Given the description of an element on the screen output the (x, y) to click on. 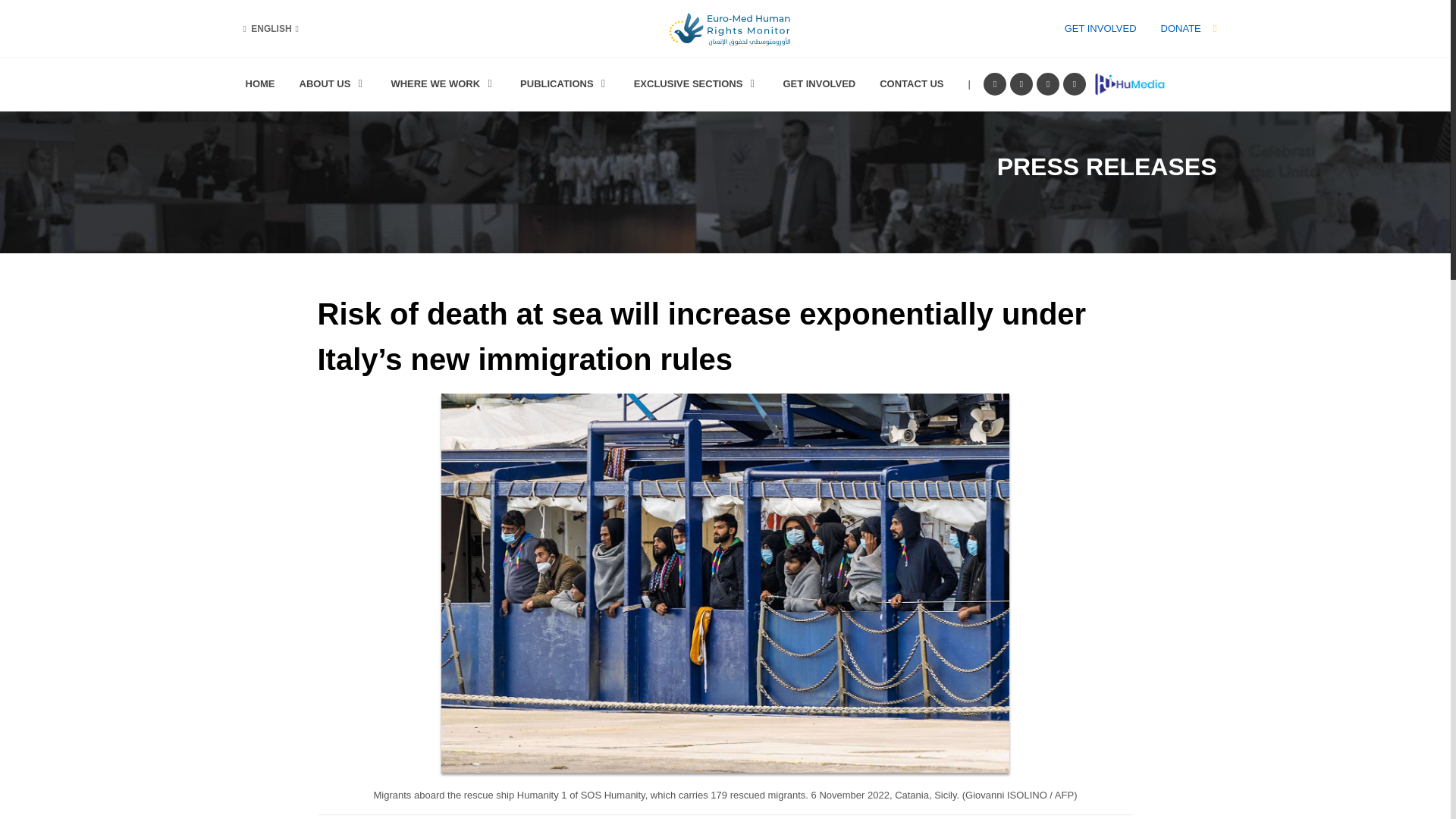
ENGLISH (269, 28)
WHERE WE WORK (442, 84)
HOME (258, 84)
GET INVOLVED (1100, 28)
DONATE (1180, 28)
ABOUT US (333, 84)
